Given the description of an element on the screen output the (x, y) to click on. 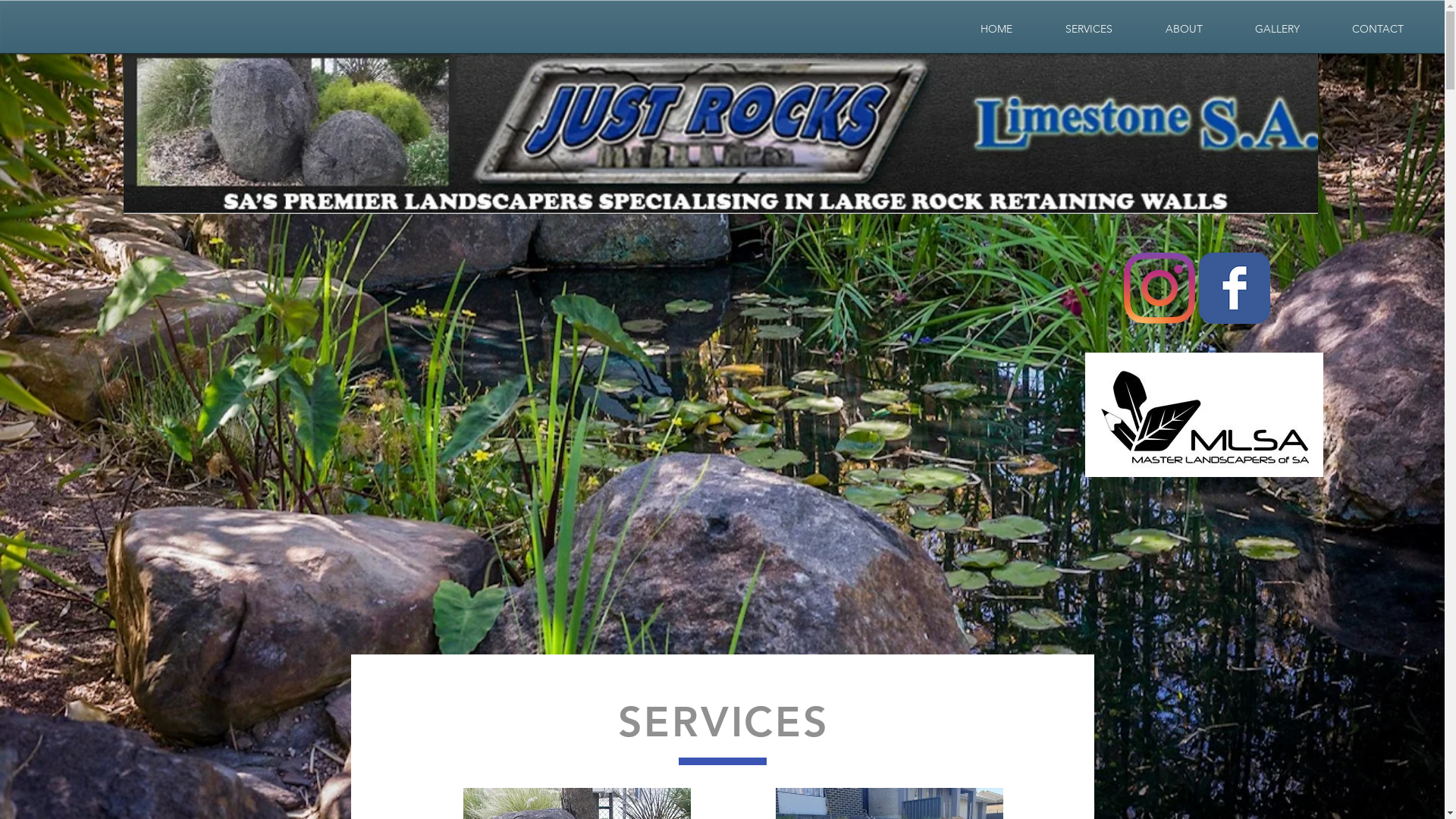
GALLERY Element type: text (1276, 29)
ABOUT Element type: text (1183, 29)
CONTACT Element type: text (1377, 29)
web logo (2).jpg Element type: hover (719, 133)
SERVICES Element type: text (1088, 29)
HOME Element type: text (995, 29)
